Given the description of an element on the screen output the (x, y) to click on. 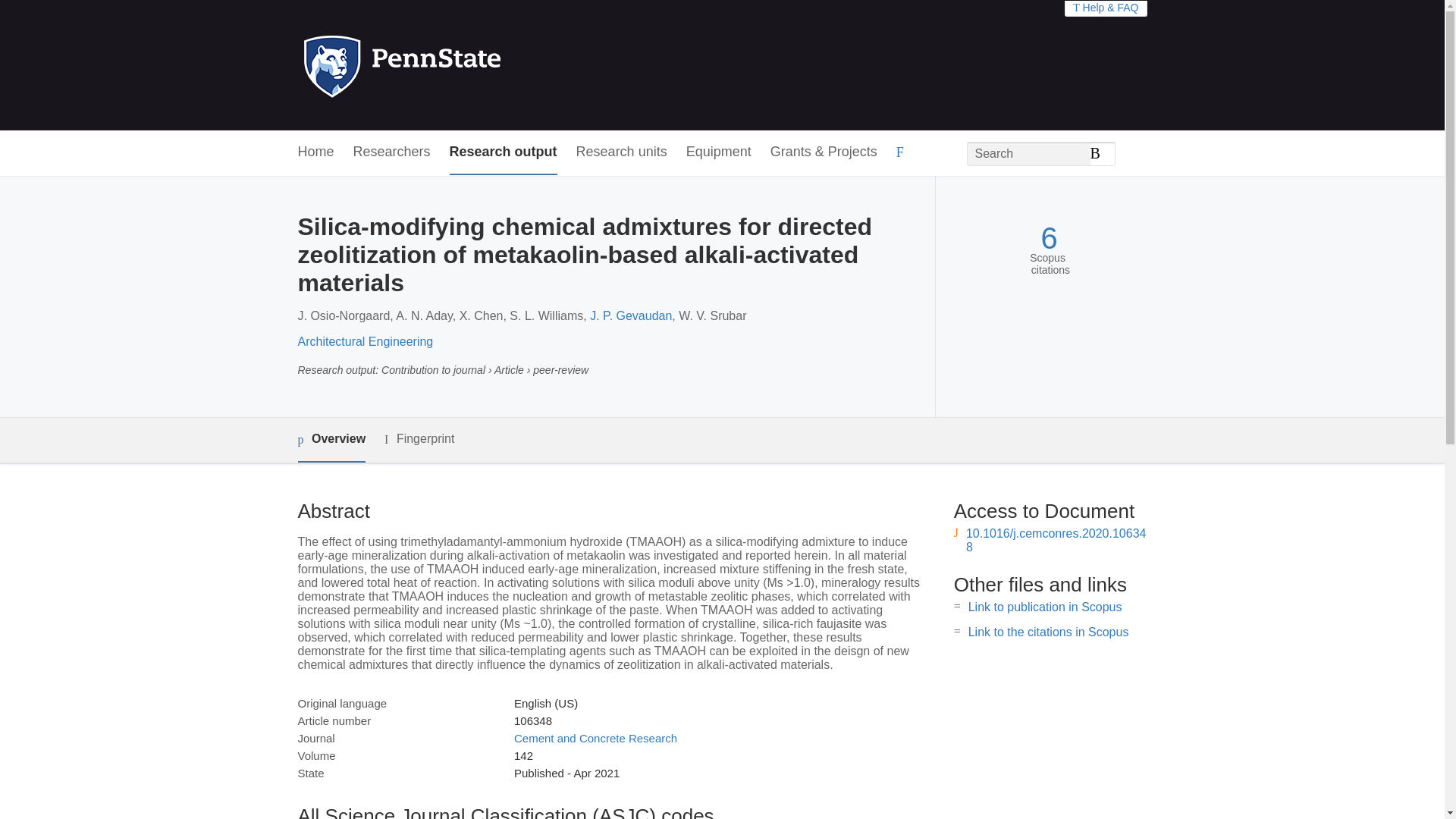
J. P. Gevaudan (630, 315)
Fingerprint (419, 439)
Home (315, 152)
Overview (331, 439)
6 (1049, 238)
Penn State Home (467, 65)
Link to the citations in Scopus (1048, 631)
Equipment (718, 152)
Architectural Engineering (364, 341)
Cement and Concrete Research (595, 738)
Link to publication in Scopus (1045, 606)
Research output (503, 152)
Researchers (391, 152)
Research units (621, 152)
